Given the description of an element on the screen output the (x, y) to click on. 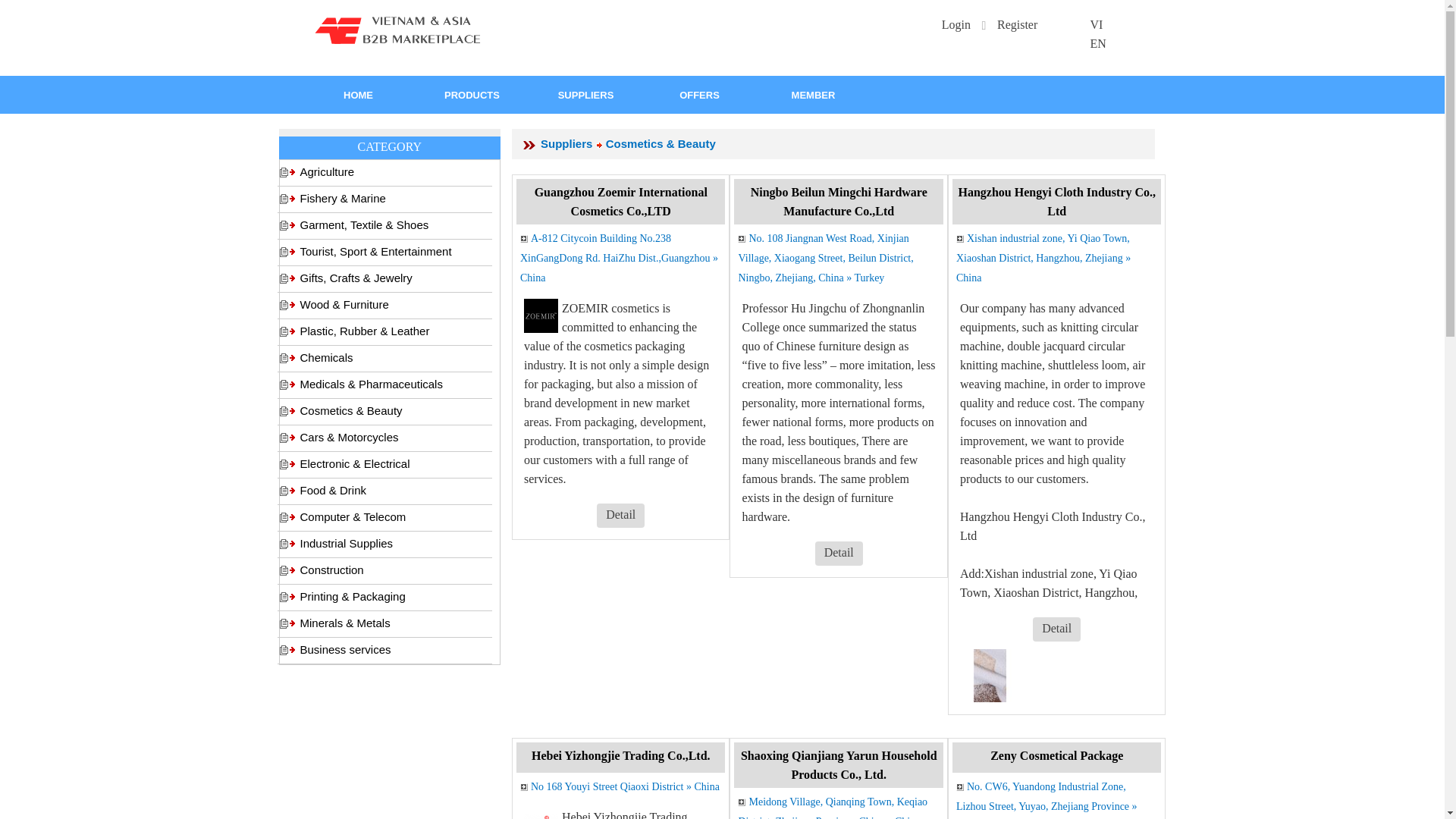
Suppliers (566, 143)
Hangzhou Hengyi Cloth Industry Co., Ltd (1057, 201)
SUPPLIERS (586, 94)
Register (1016, 24)
Detail (1056, 629)
Member (813, 94)
Suppliers (598, 144)
English (1097, 42)
Products (471, 94)
Detail (839, 552)
LOGO ACEvn.com (397, 29)
Detail (620, 513)
ACEvn.com (397, 30)
EN (1097, 42)
Login (956, 24)
